Given the description of an element on the screen output the (x, y) to click on. 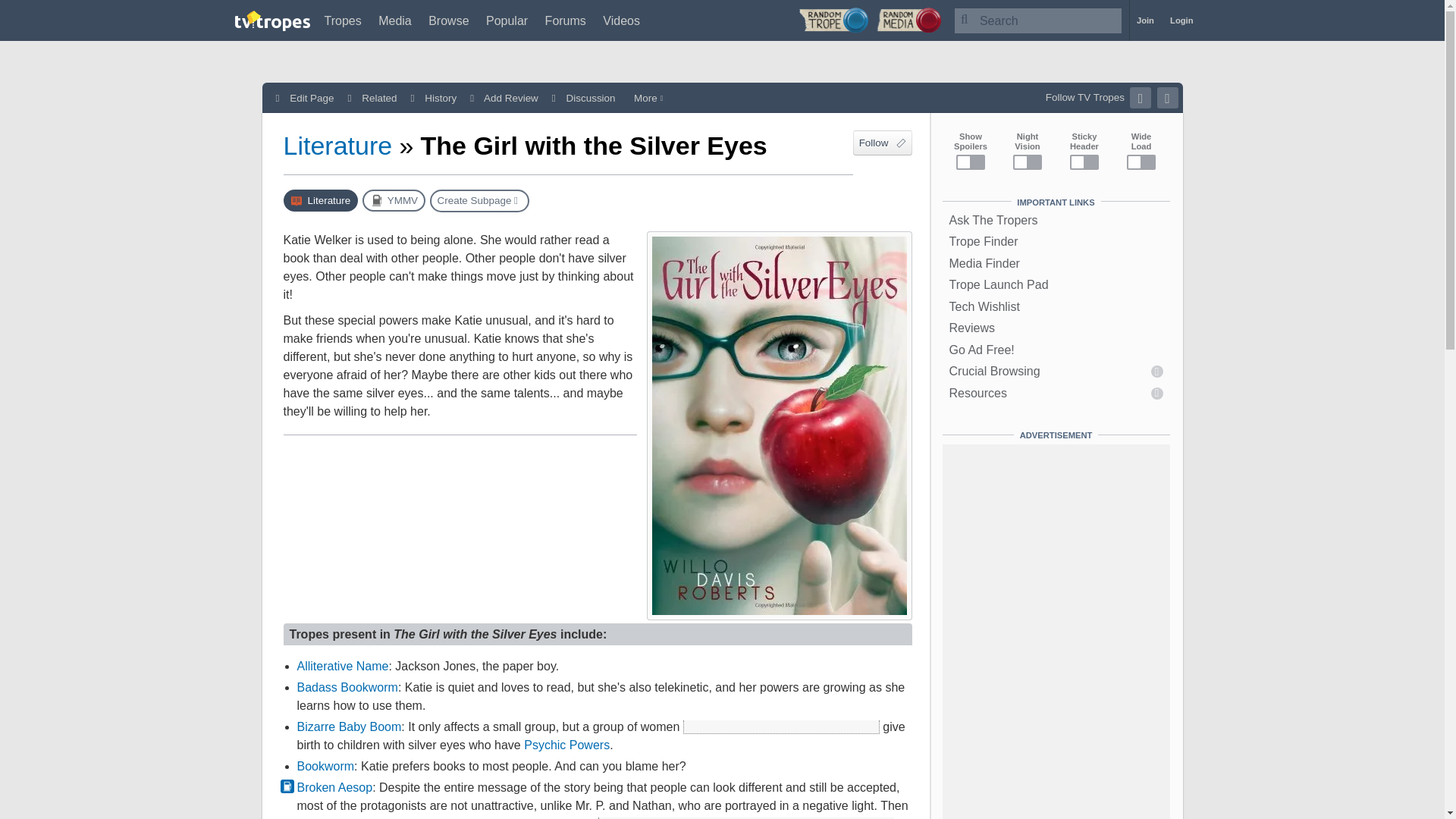
The YMMV page (393, 200)
Media (395, 20)
Login (1181, 20)
Videos (621, 20)
Browse (448, 20)
you can set spoilers visible by default on your profile (780, 726)
Popular (506, 20)
The Literature page (320, 200)
